Given the description of an element on the screen output the (x, y) to click on. 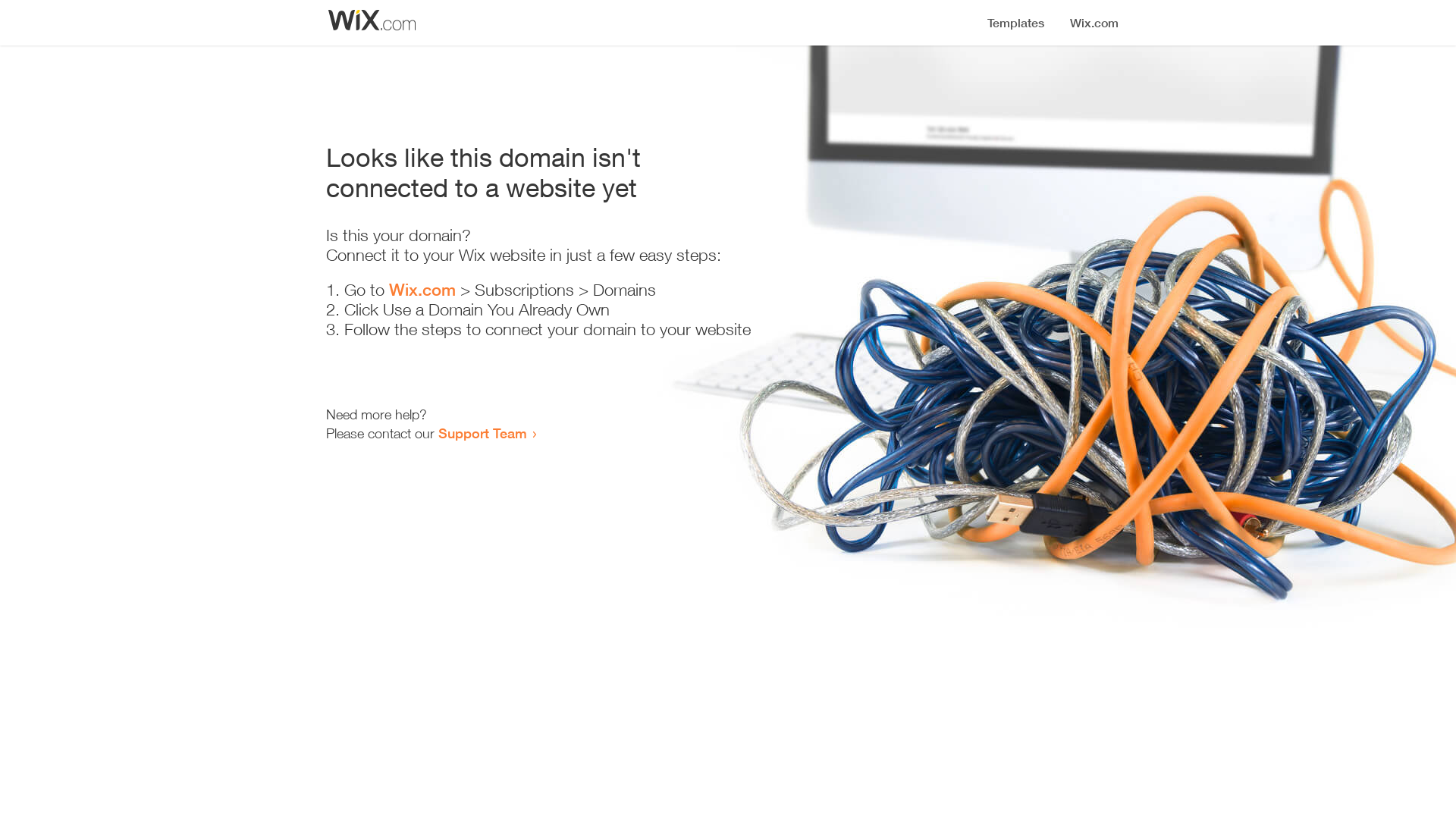
Support Team Element type: text (482, 432)
Wix.com Element type: text (422, 289)
